Given the description of an element on the screen output the (x, y) to click on. 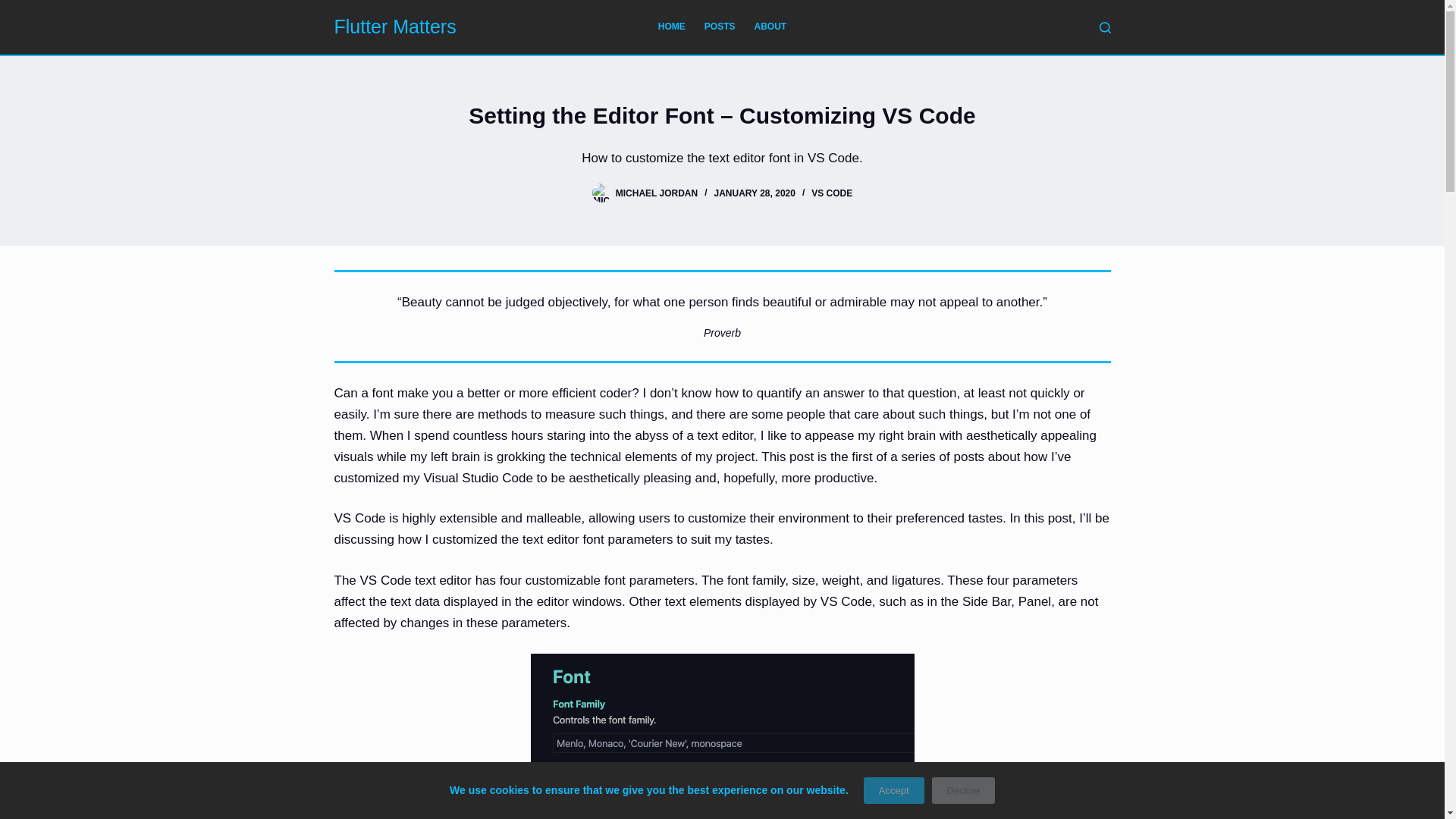
Flutter Matters (394, 25)
ABOUT (770, 27)
VS CODE (830, 193)
Accept (893, 790)
Skip to content (15, 7)
Decline (962, 790)
POSTS (719, 27)
MICHAEL JORDAN (656, 193)
Posts by Michael Jordan (656, 193)
